Given the description of an element on the screen output the (x, y) to click on. 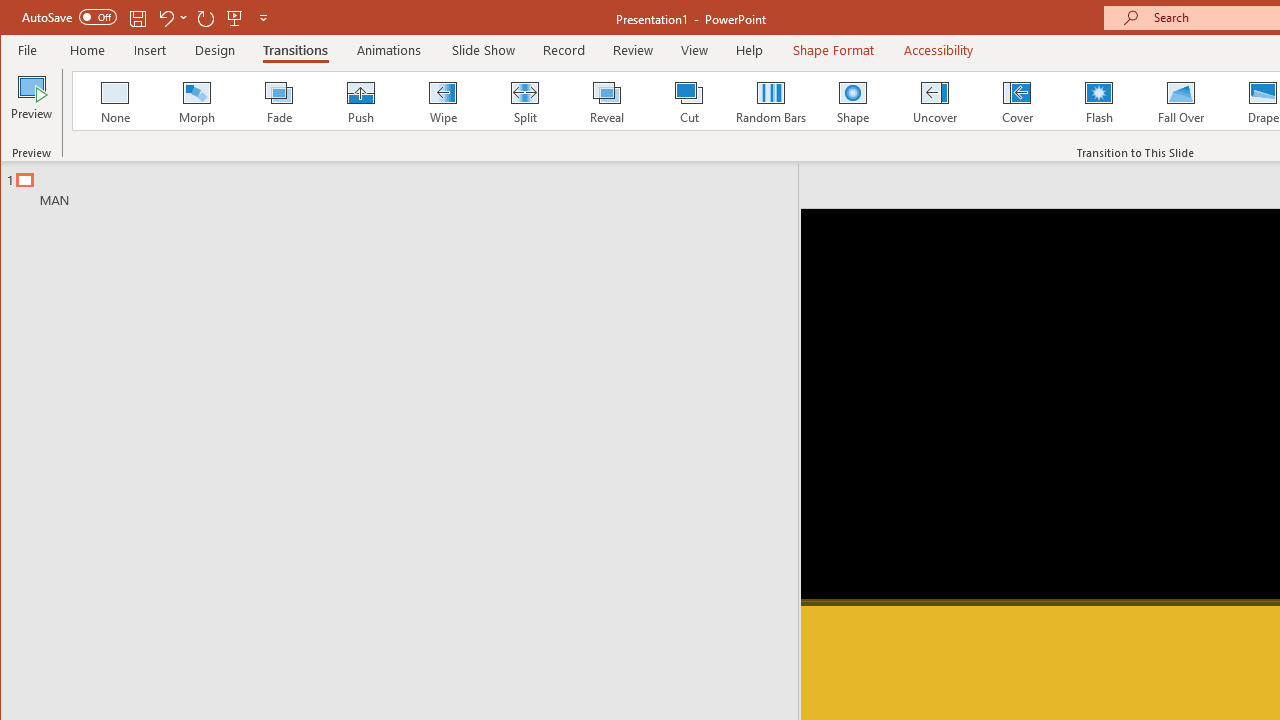
Outline (408, 185)
Design (215, 50)
Cut (688, 100)
Uncover (934, 100)
Transitions (294, 50)
Cover (1016, 100)
Shape Format (833, 50)
Fall Over (1181, 100)
Push (360, 100)
Fade (279, 100)
Split (524, 100)
From Beginning (235, 17)
